Given the description of an element on the screen output the (x, y) to click on. 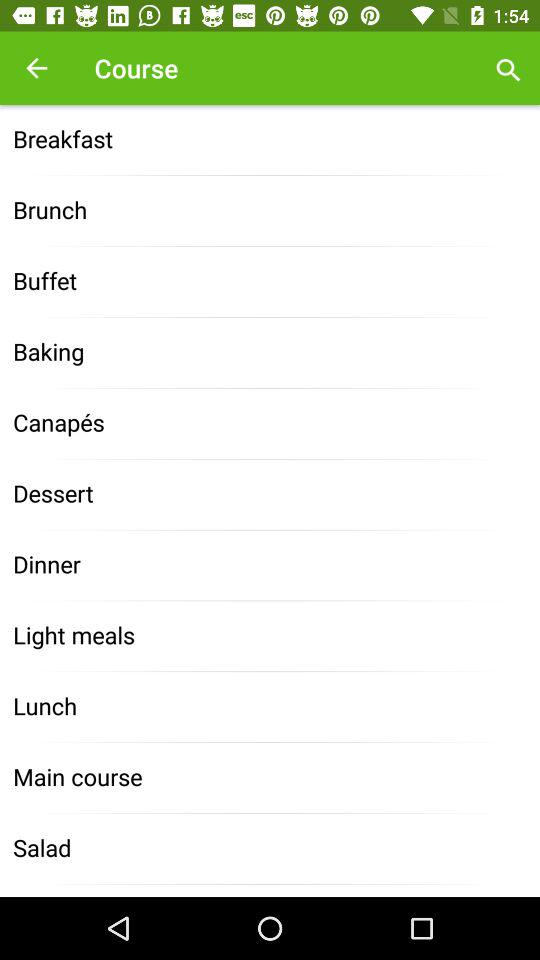
select light meals (270, 636)
